Given the description of an element on the screen output the (x, y) to click on. 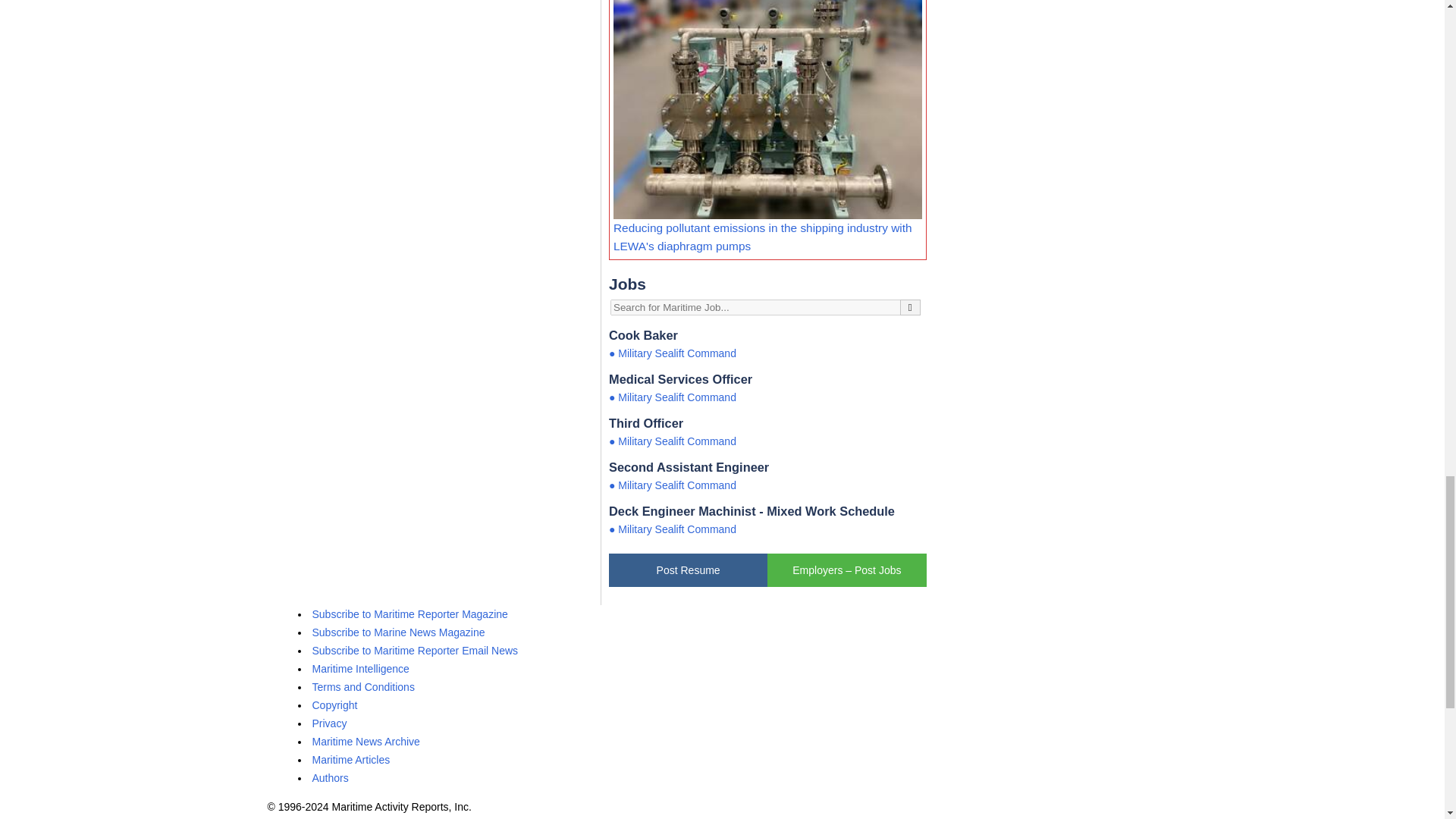
Post Resume (687, 570)
Maritime News Archive (366, 741)
Marine Link Authors (331, 777)
